Given the description of an element on the screen output the (x, y) to click on. 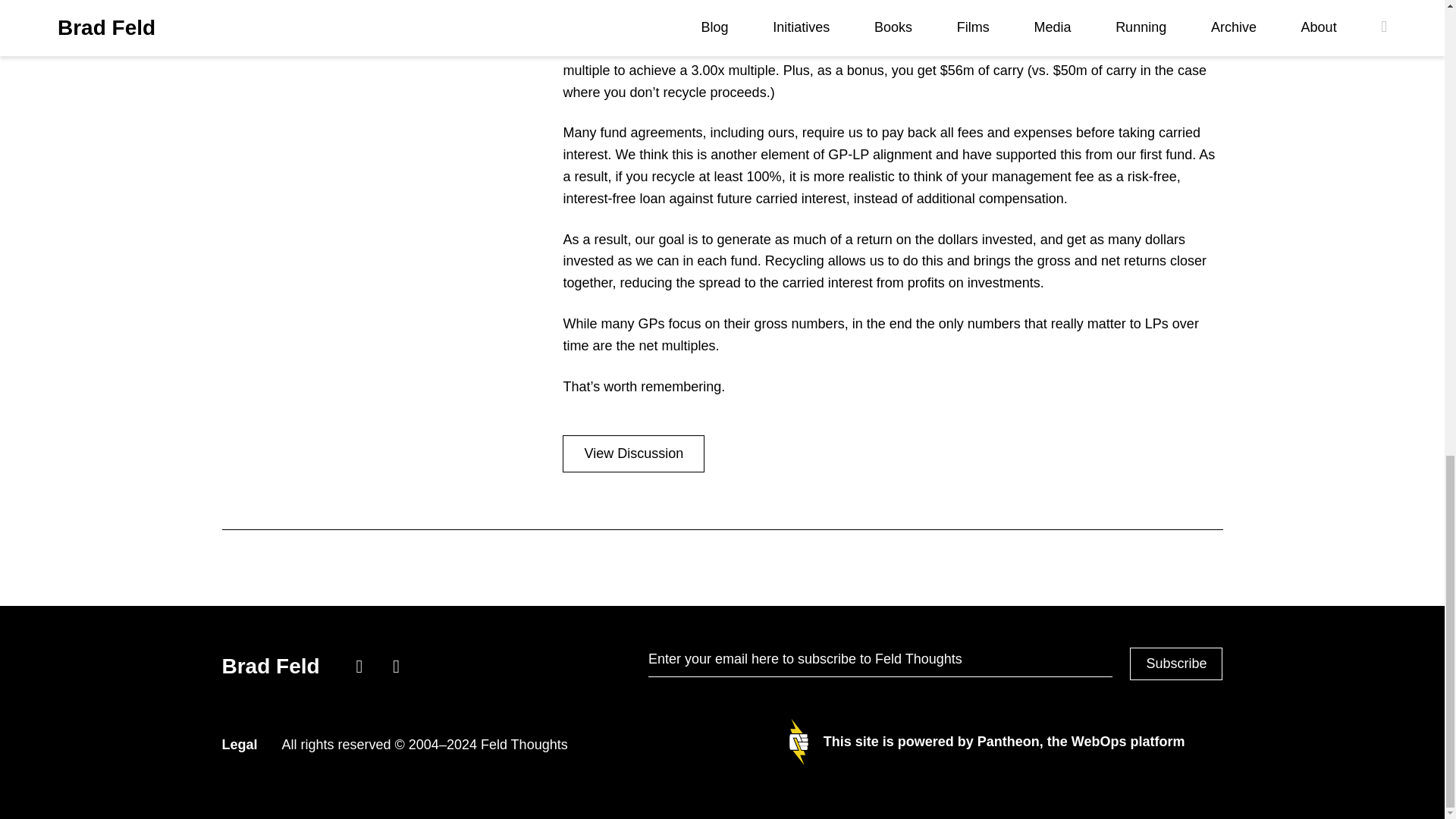
Brad Feld (272, 666)
Legal (239, 744)
View Discussion (633, 453)
Subscribe (1176, 663)
This site is powered by Pantheon, the WebOps platform (987, 741)
